Given the description of an element on the screen output the (x, y) to click on. 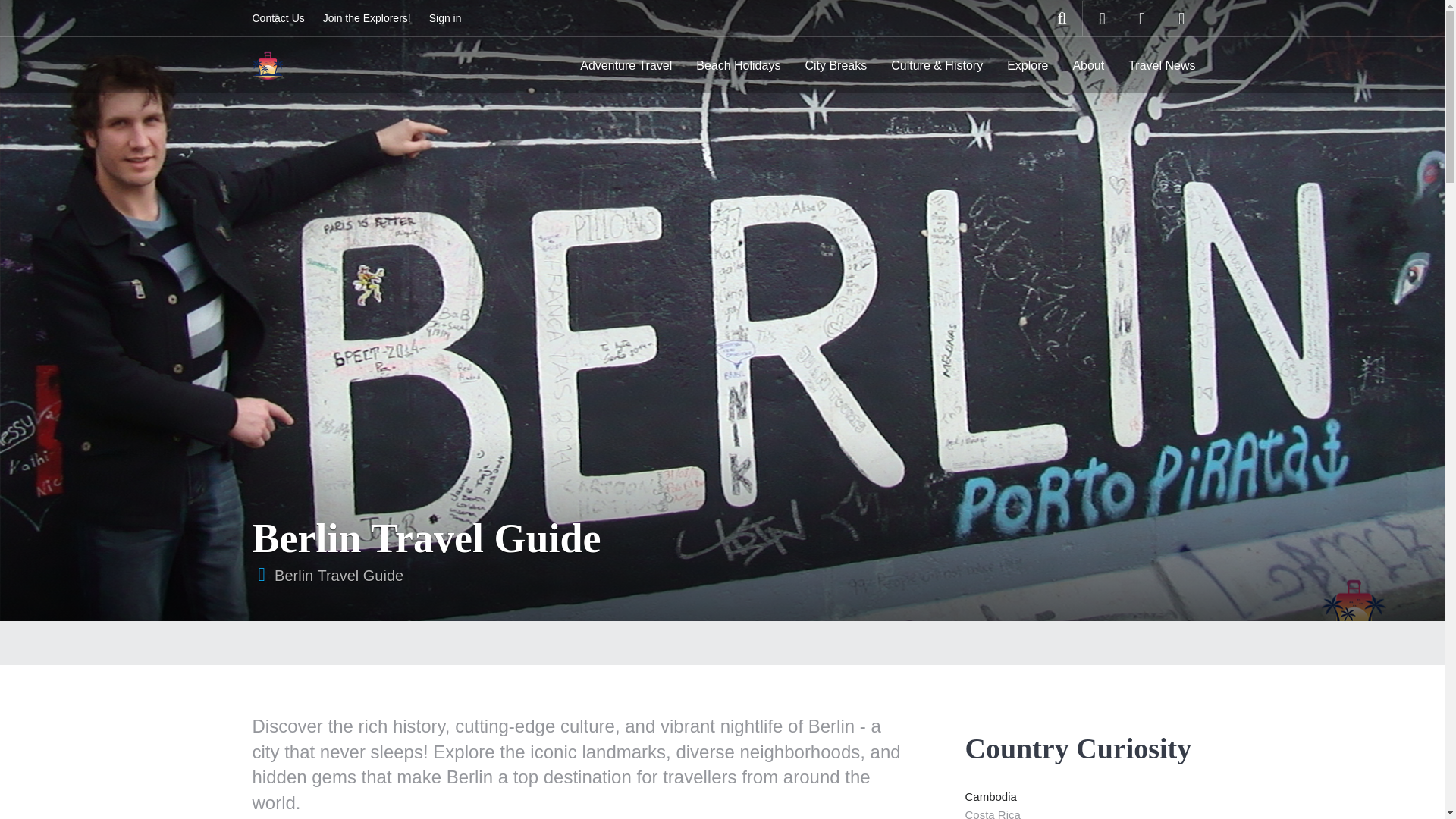
Sign in (445, 18)
Contact Us (278, 18)
Sign in (445, 18)
About (1087, 64)
Join the Explorers! (367, 18)
Adventure Travel (625, 64)
City Breaks (835, 64)
Explore (1026, 64)
Travel News (1161, 64)
Beach Holidays (738, 64)
Join the Explorers! (367, 18)
Berlin Travel Guide (339, 575)
Contact Us (278, 18)
